Given the description of an element on the screen output the (x, y) to click on. 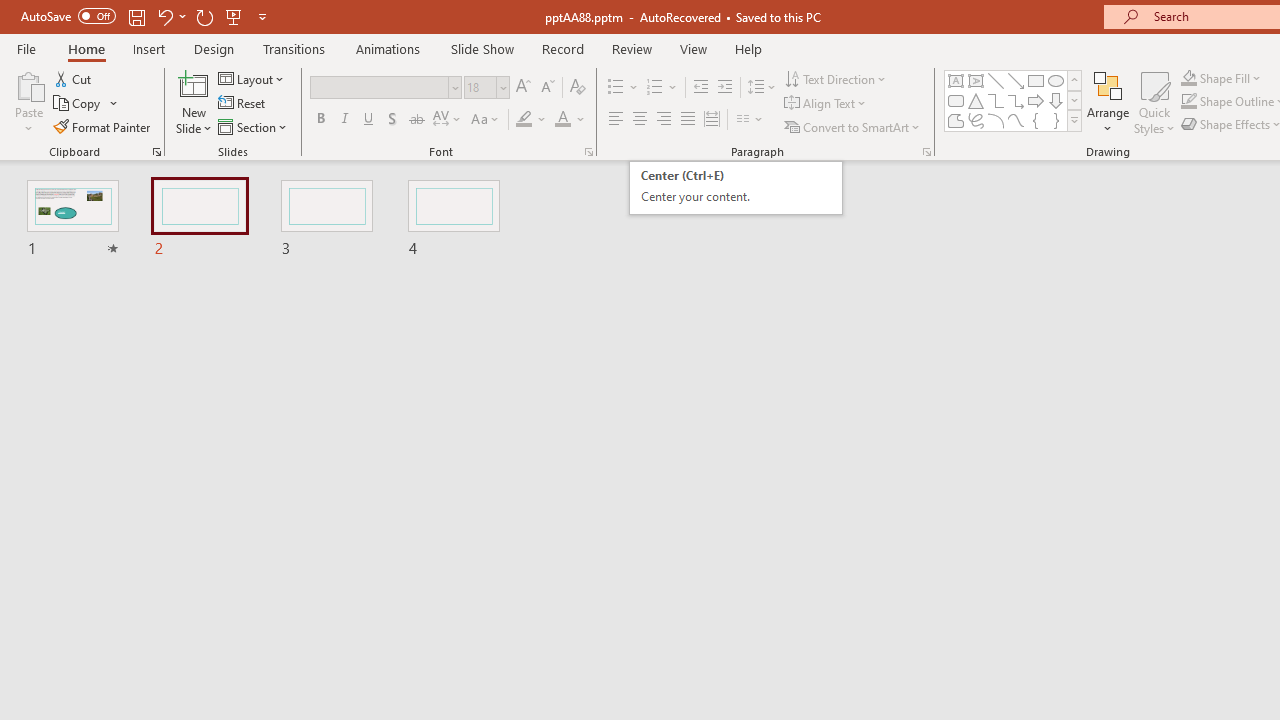
Bold (320, 119)
Layout (252, 78)
Columns (750, 119)
Cut (73, 78)
Text Highlight Color Yellow (524, 119)
Row Down (1074, 100)
Font Size (480, 87)
Paste (28, 84)
Rectangle: Rounded Corners (955, 100)
